Given the description of an element on the screen output the (x, y) to click on. 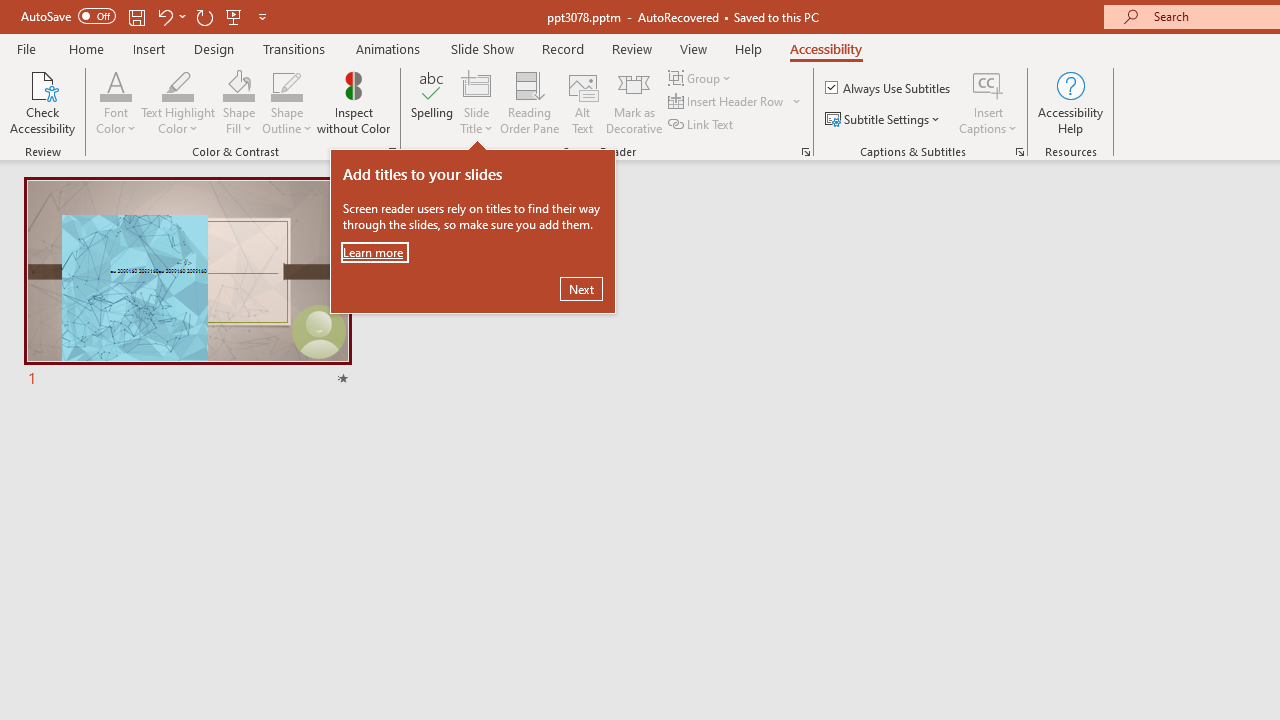
Accessibility Help (1070, 102)
Insert Captions (988, 102)
Insert Header Row (727, 101)
Slide Title (476, 84)
Reading Order Pane (529, 102)
Learn more (375, 252)
